Given the description of an element on the screen output the (x, y) to click on. 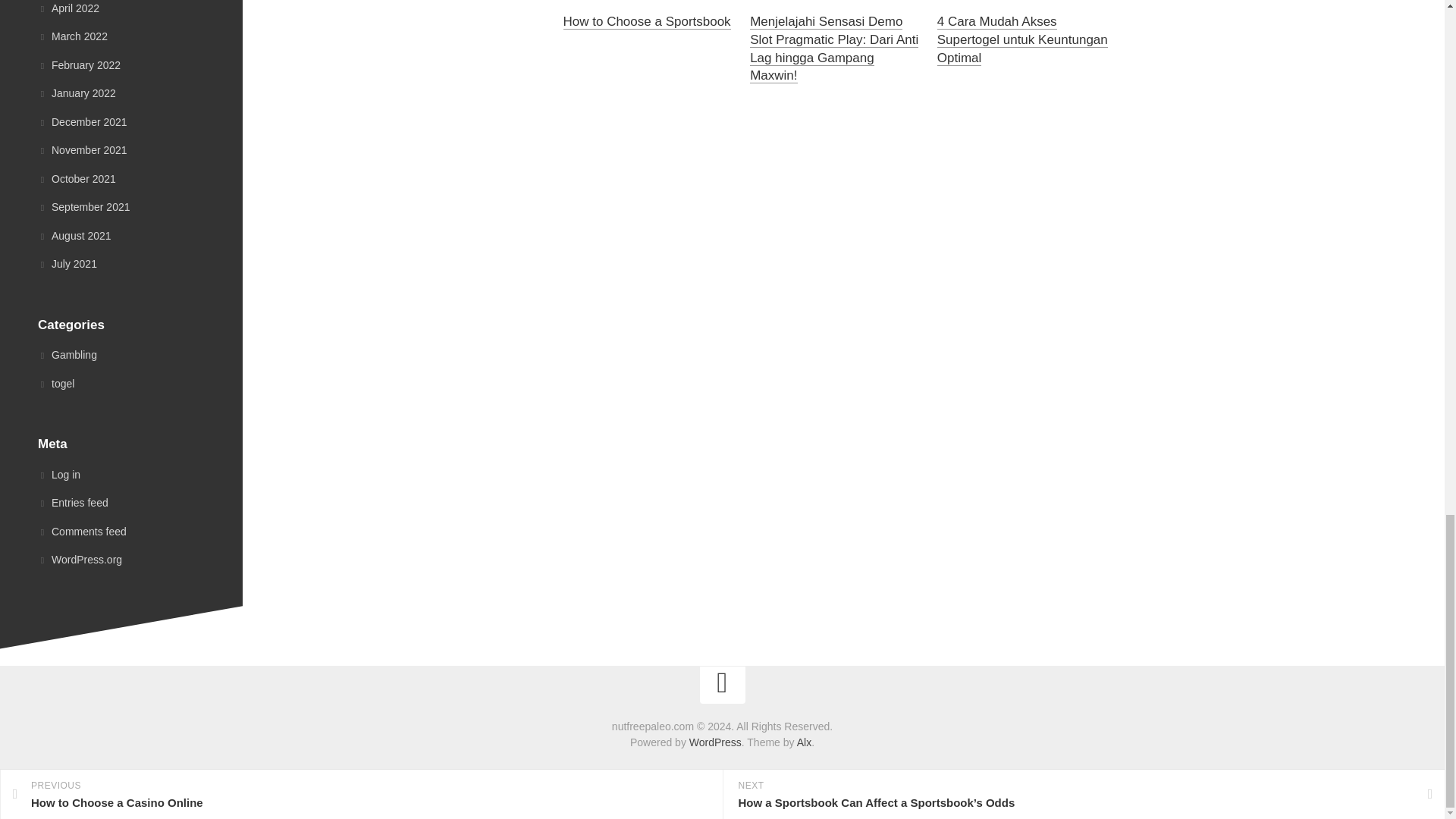
4 Cara Mudah Akses Supertogel untuk Keuntungan Optimal (1022, 39)
How to Choose a Sportsbook (646, 21)
